Given the description of an element on the screen output the (x, y) to click on. 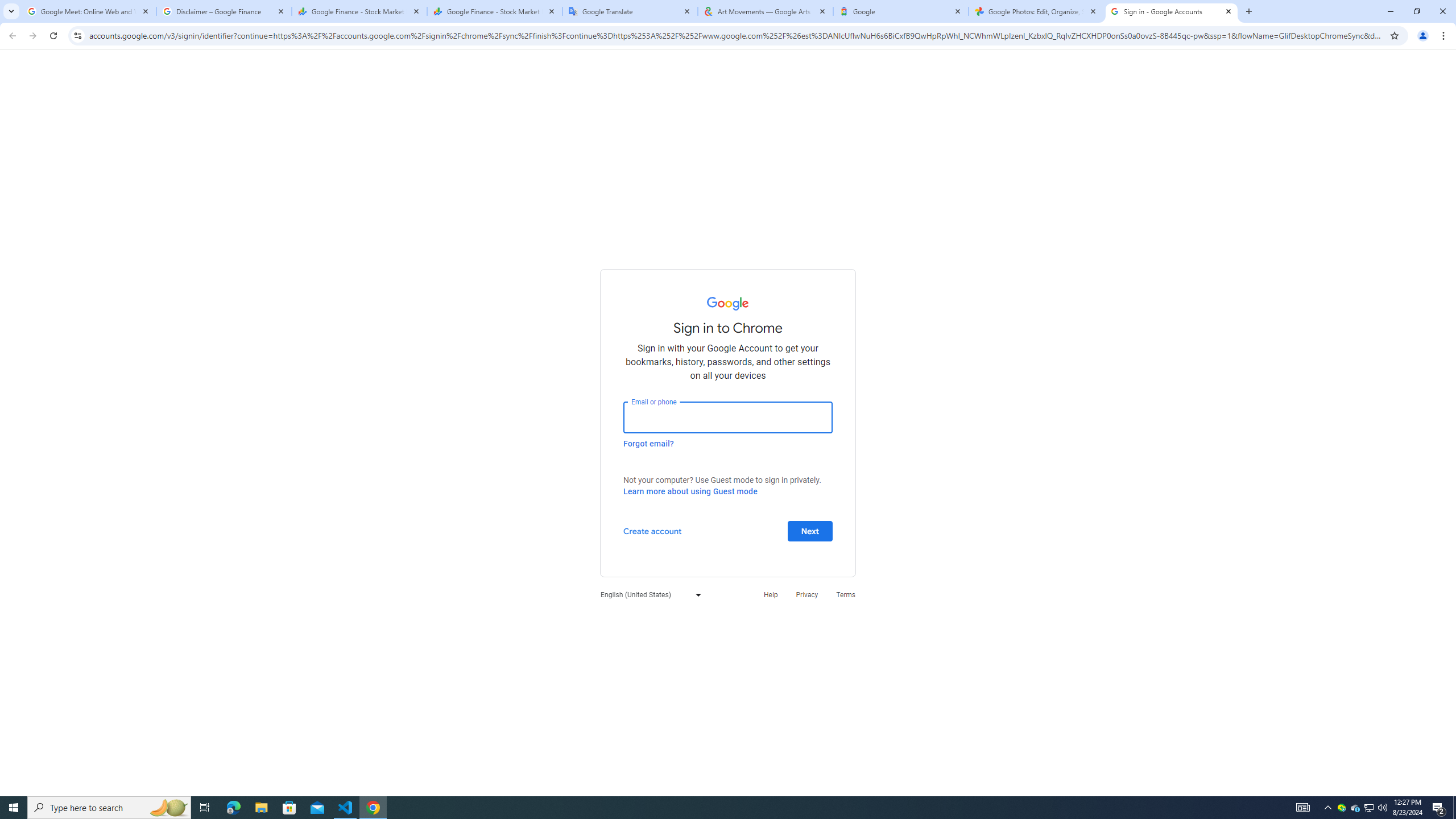
Create account (651, 530)
